Given the description of an element on the screen output the (x, y) to click on. 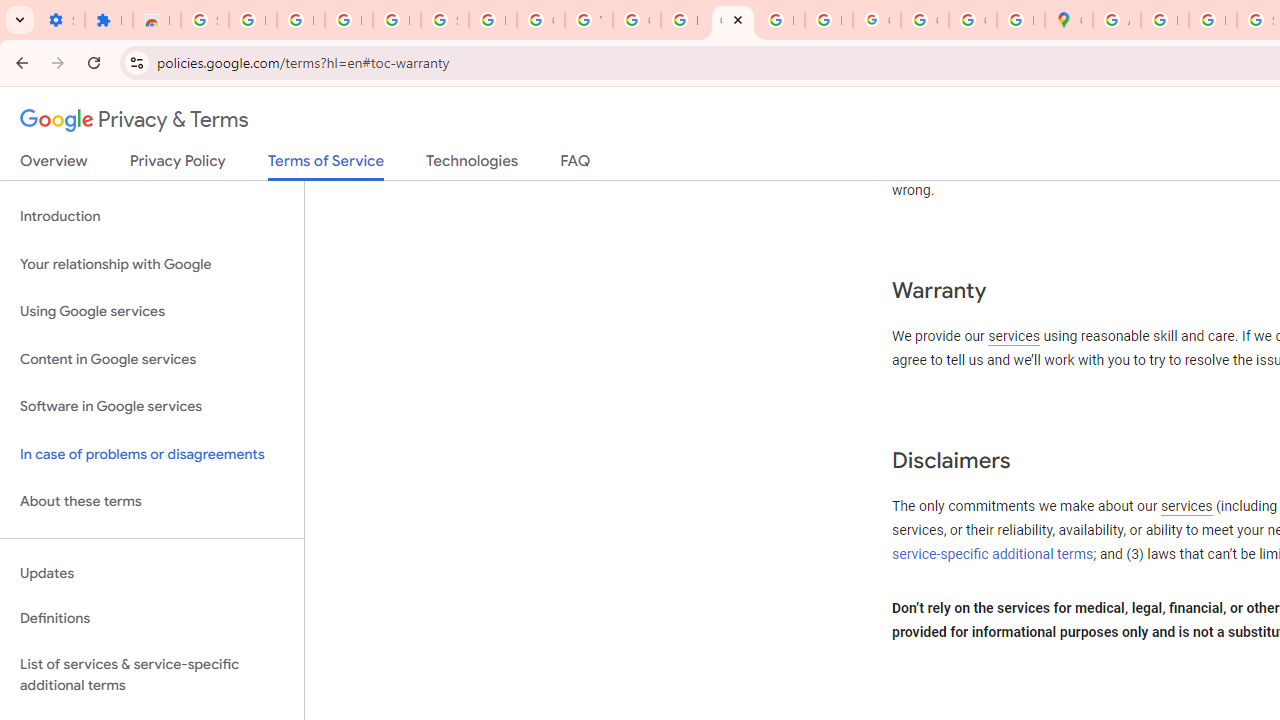
Sign in - Google Accounts (444, 20)
In case of problems or disagreements (152, 453)
Google Account (540, 20)
